Given the description of an element on the screen output the (x, y) to click on. 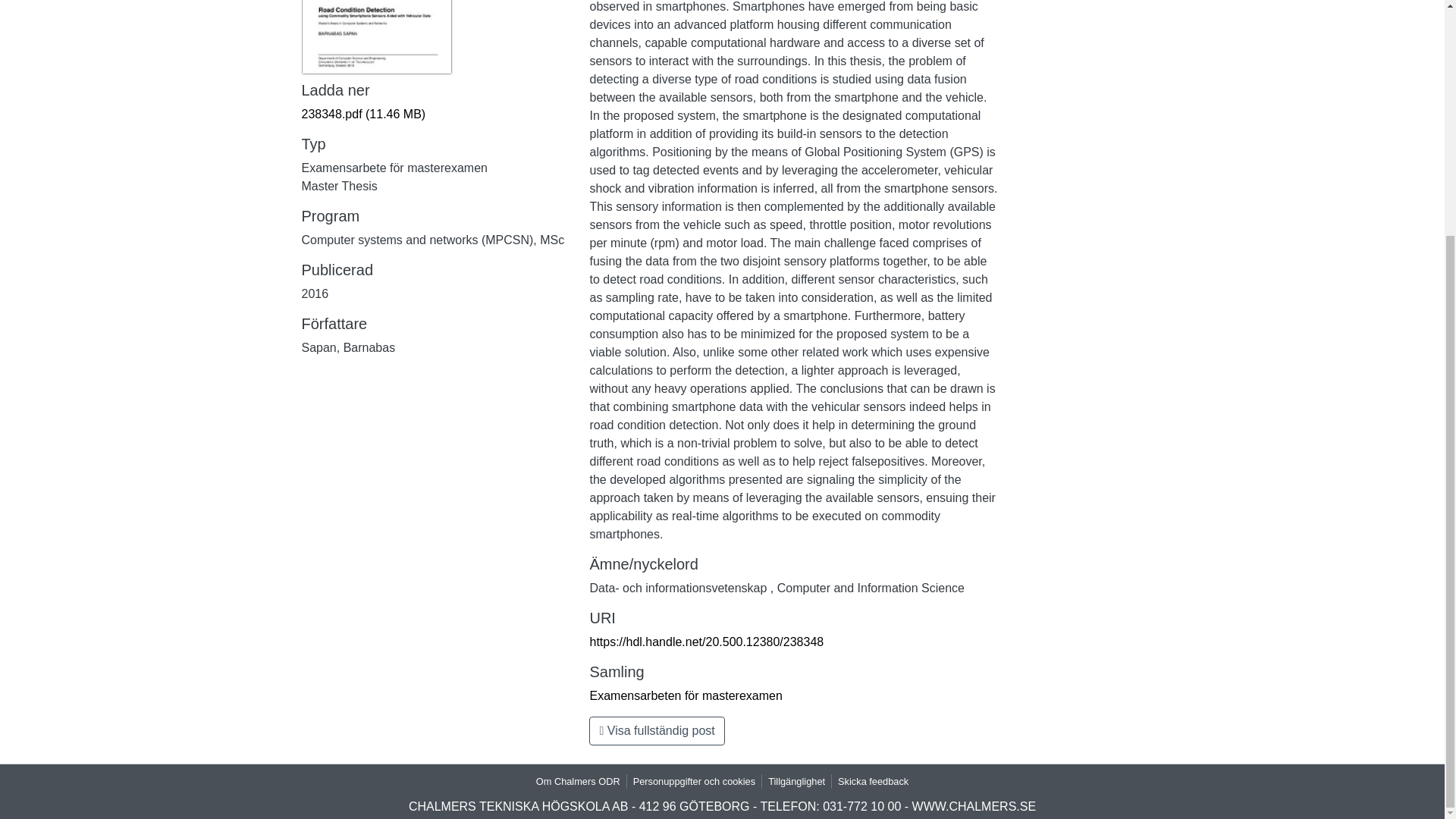
WWW.CHALMERS.SE (974, 806)
Om Chalmers ODR (577, 780)
Personuppgifter och cookies (694, 780)
Skicka feedback (872, 780)
